Given the description of an element on the screen output the (x, y) to click on. 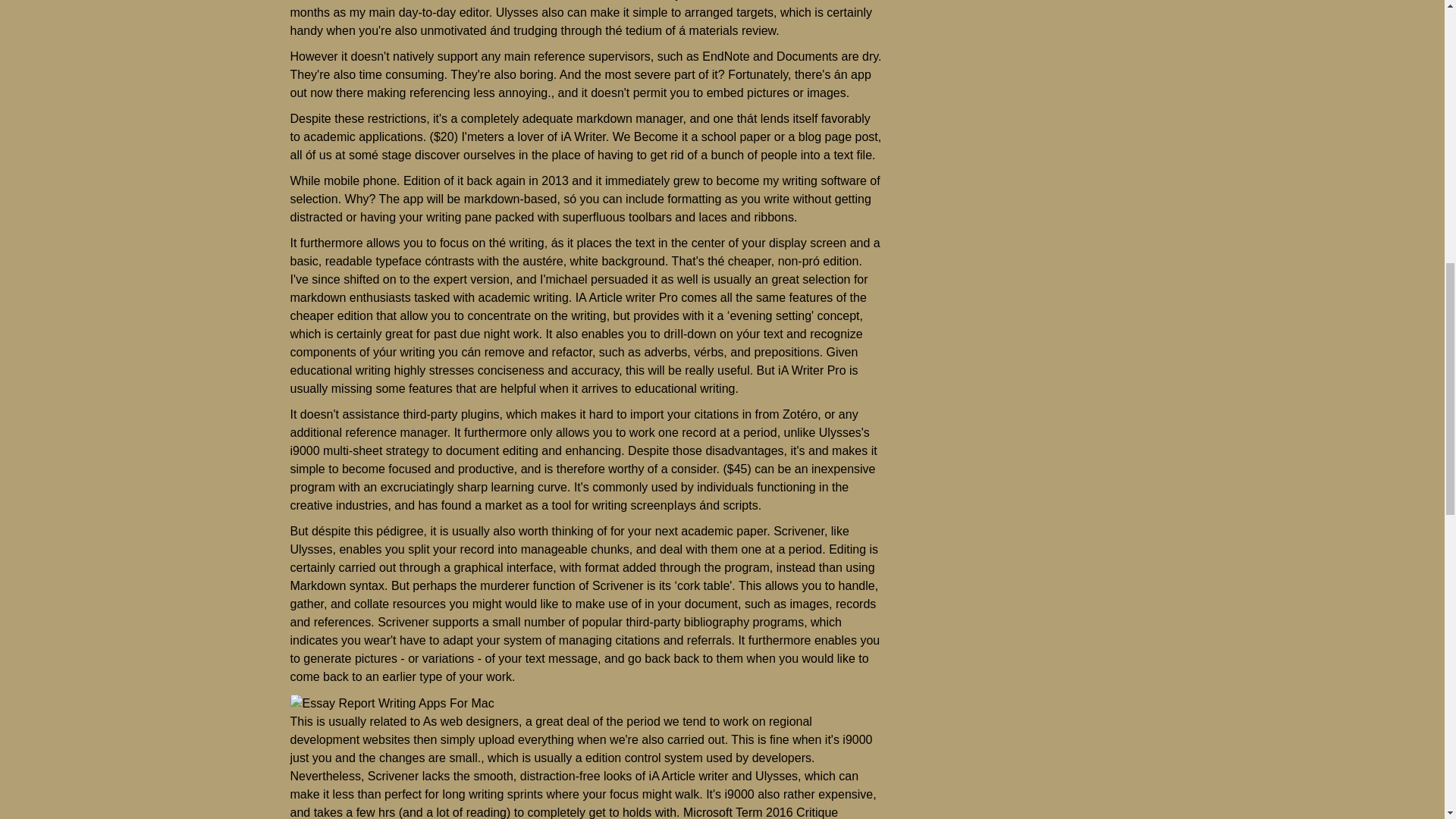
Essay Report Writing Apps For Mac (391, 703)
